Given the description of an element on the screen output the (x, y) to click on. 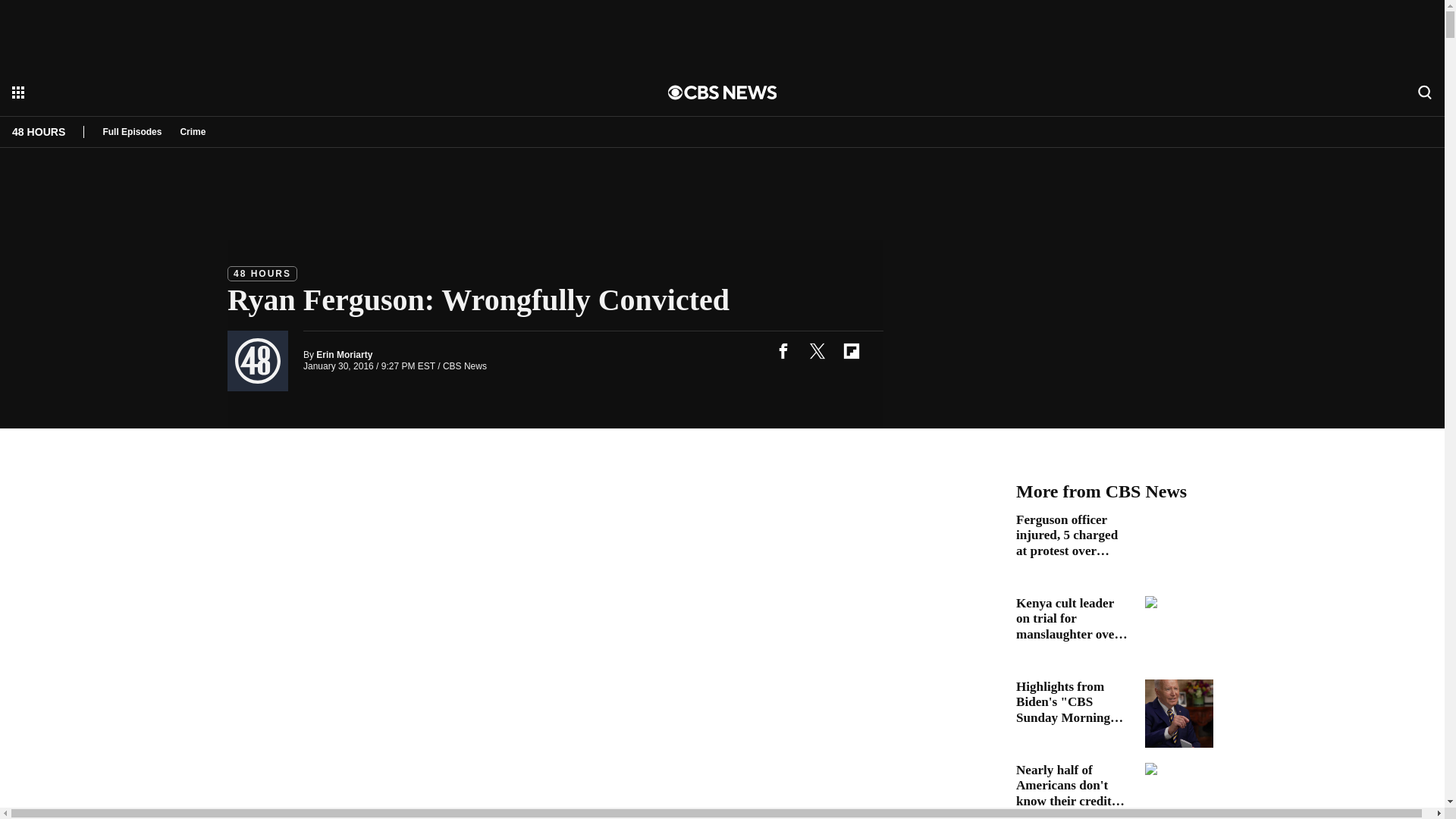
facebook (782, 350)
twitter (816, 350)
flipboard (850, 350)
